Given the description of an element on the screen output the (x, y) to click on. 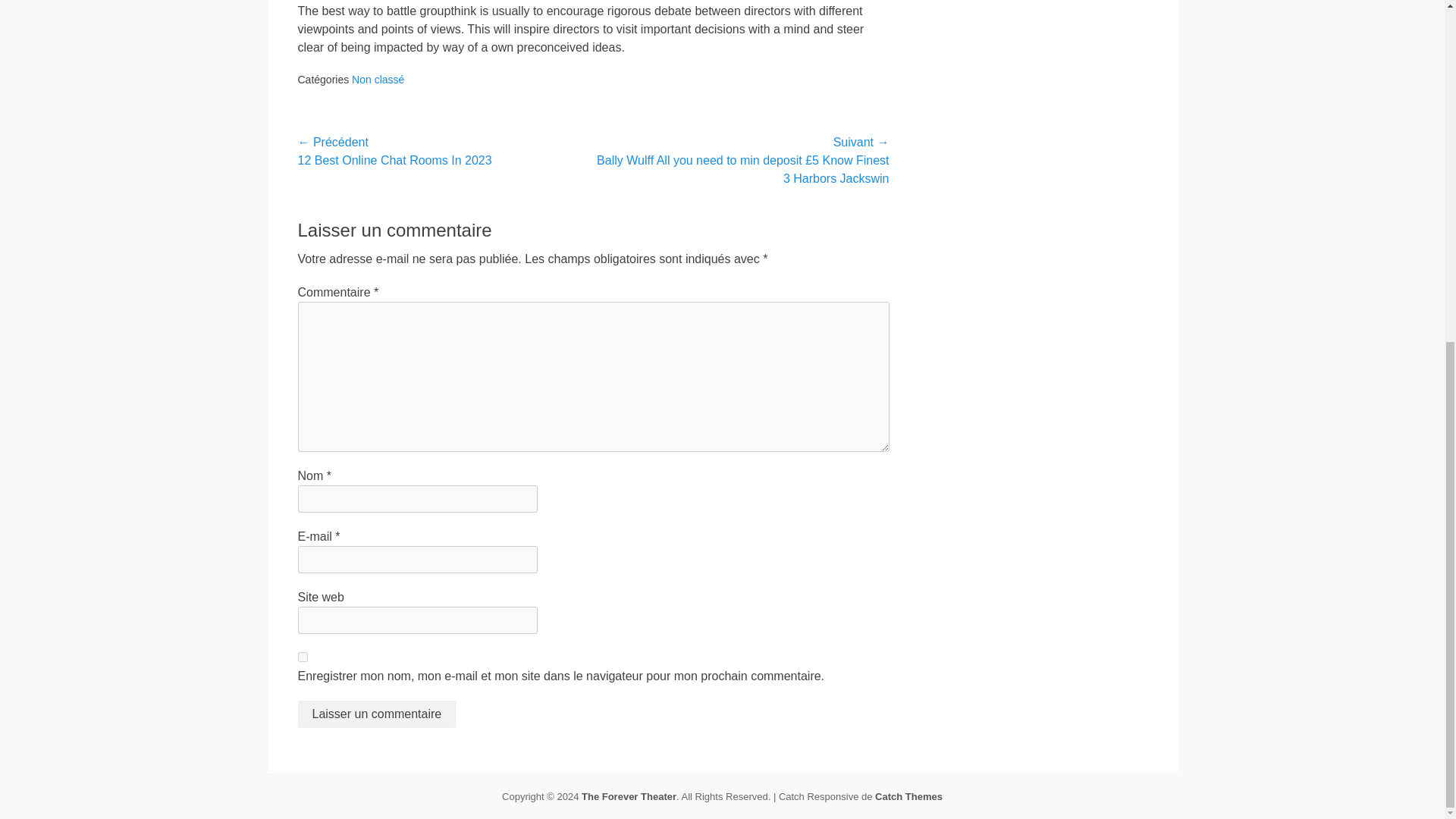
Laisser un commentaire (376, 714)
Catch Themes (908, 796)
The Forever Theater (628, 796)
yes (302, 656)
Laisser un commentaire (376, 714)
